Given the description of an element on the screen output the (x, y) to click on. 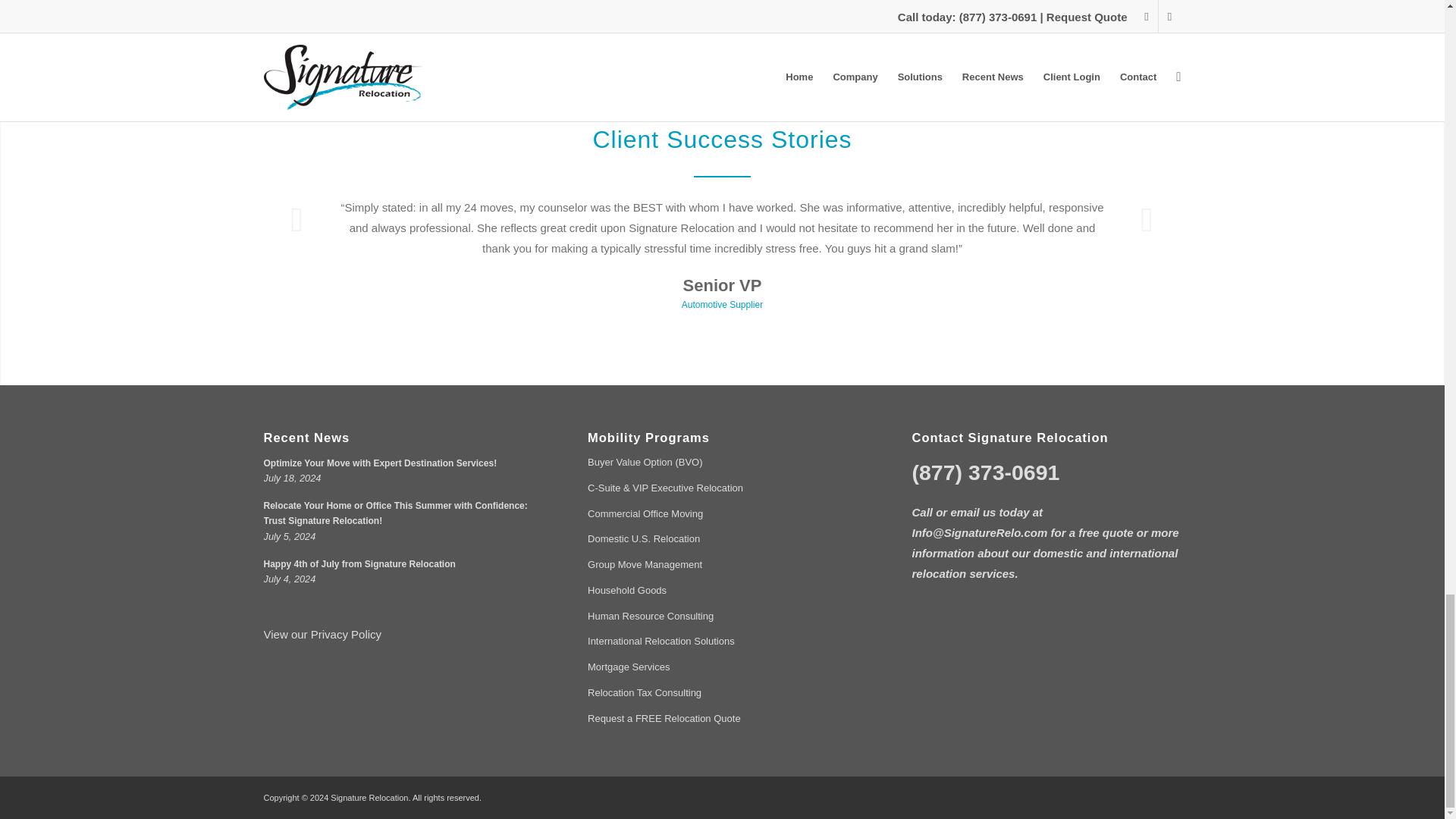
Optimize Your Move with Expert Destination Services! (380, 462)
Household Goods (722, 591)
International Relocation Solutions (722, 642)
View our Privacy Policy (322, 634)
Happy 4th of July from Signature Relocation (359, 563)
Domestic U.S. Relocation (722, 539)
Commercial Office Moving (722, 514)
Next (1146, 218)
Human Resource Consulting (722, 616)
Group Move Management (722, 565)
moving-van (479, 7)
Previous (297, 218)
Mortgage Services (722, 667)
